Given the description of an element on the screen output the (x, y) to click on. 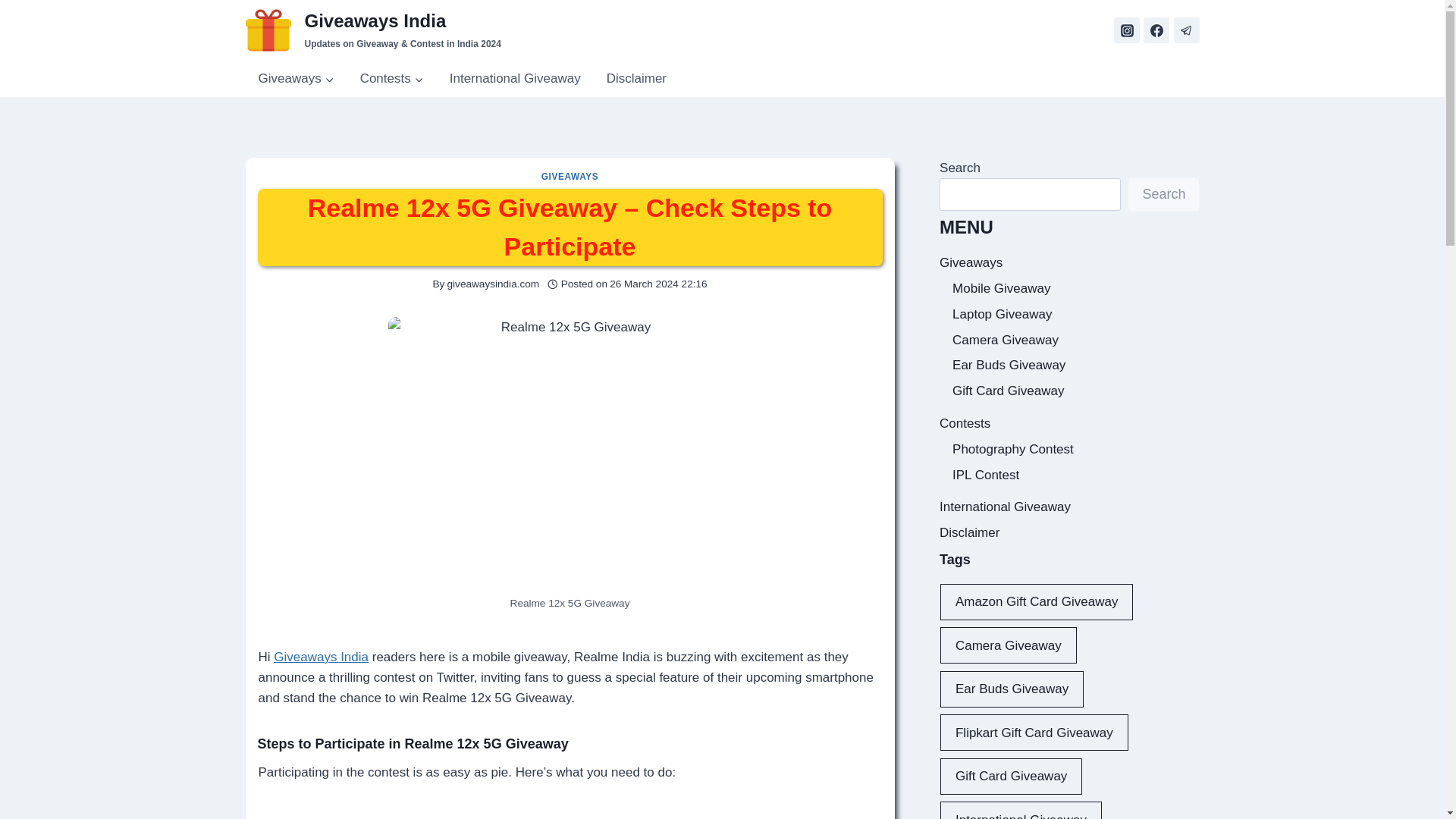
Giveaways India (320, 657)
International Giveaway (515, 78)
Giveaways (296, 78)
Contests (391, 78)
giveawaysindia.com (493, 283)
GIVEAWAYS (569, 176)
Disclaimer (636, 78)
